Given the description of an element on the screen output the (x, y) to click on. 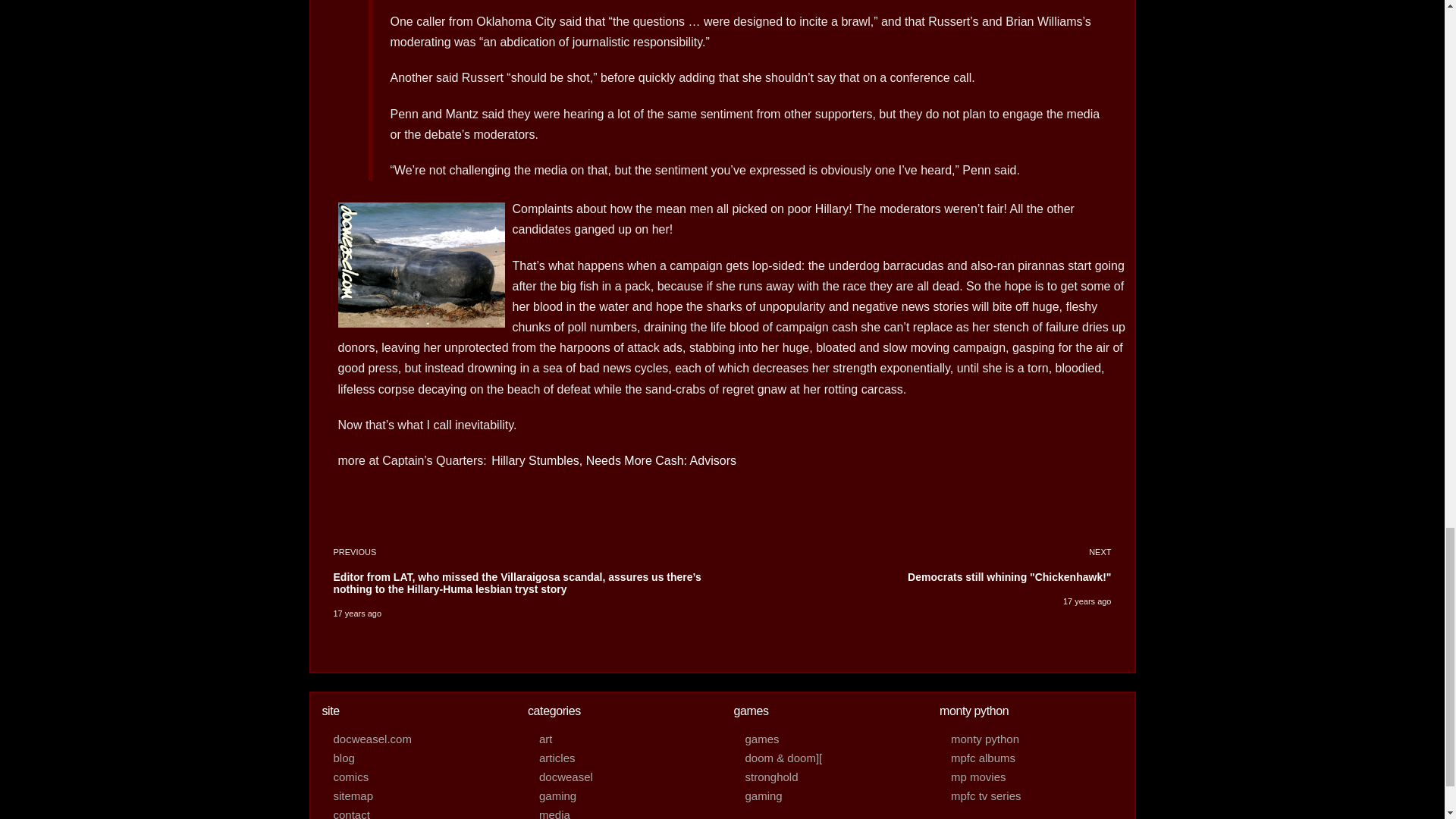
contact (413, 812)
media (619, 812)
gaming (825, 795)
mp movies (1030, 776)
Hillary Stumbles, Needs More Cash: Advisors (613, 460)
mpfc albums (1030, 757)
docweasel (619, 776)
stronghold (916, 583)
gaming (825, 776)
